Given the description of an element on the screen output the (x, y) to click on. 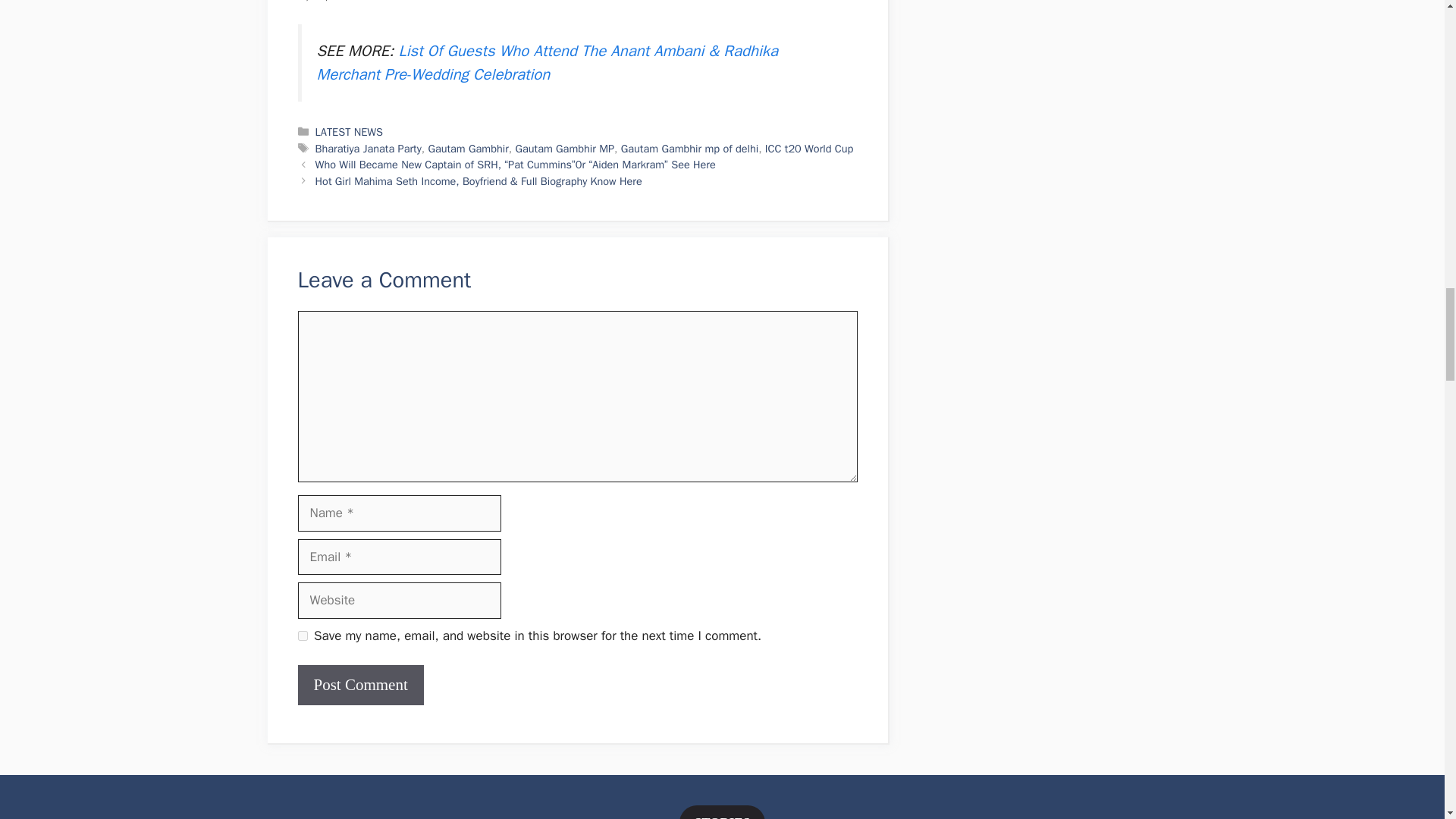
Post Comment (360, 685)
Bharatiya Janata Party (368, 148)
yes (302, 635)
LATEST NEWS (348, 131)
